Given the description of an element on the screen output the (x, y) to click on. 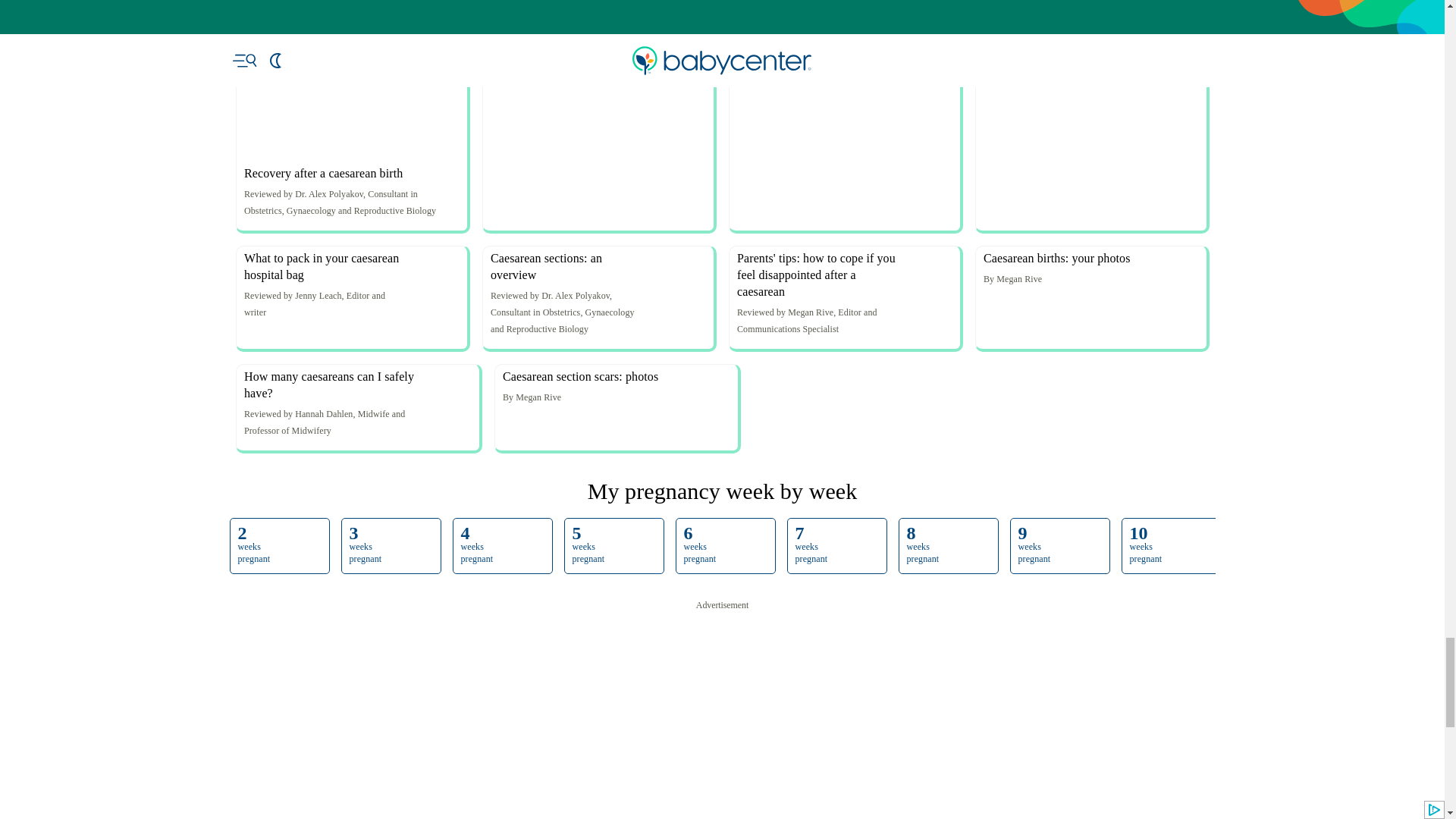
Pinterest (592, 101)
Twitter (558, 101)
Facebook (523, 101)
